Given the description of an element on the screen output the (x, y) to click on. 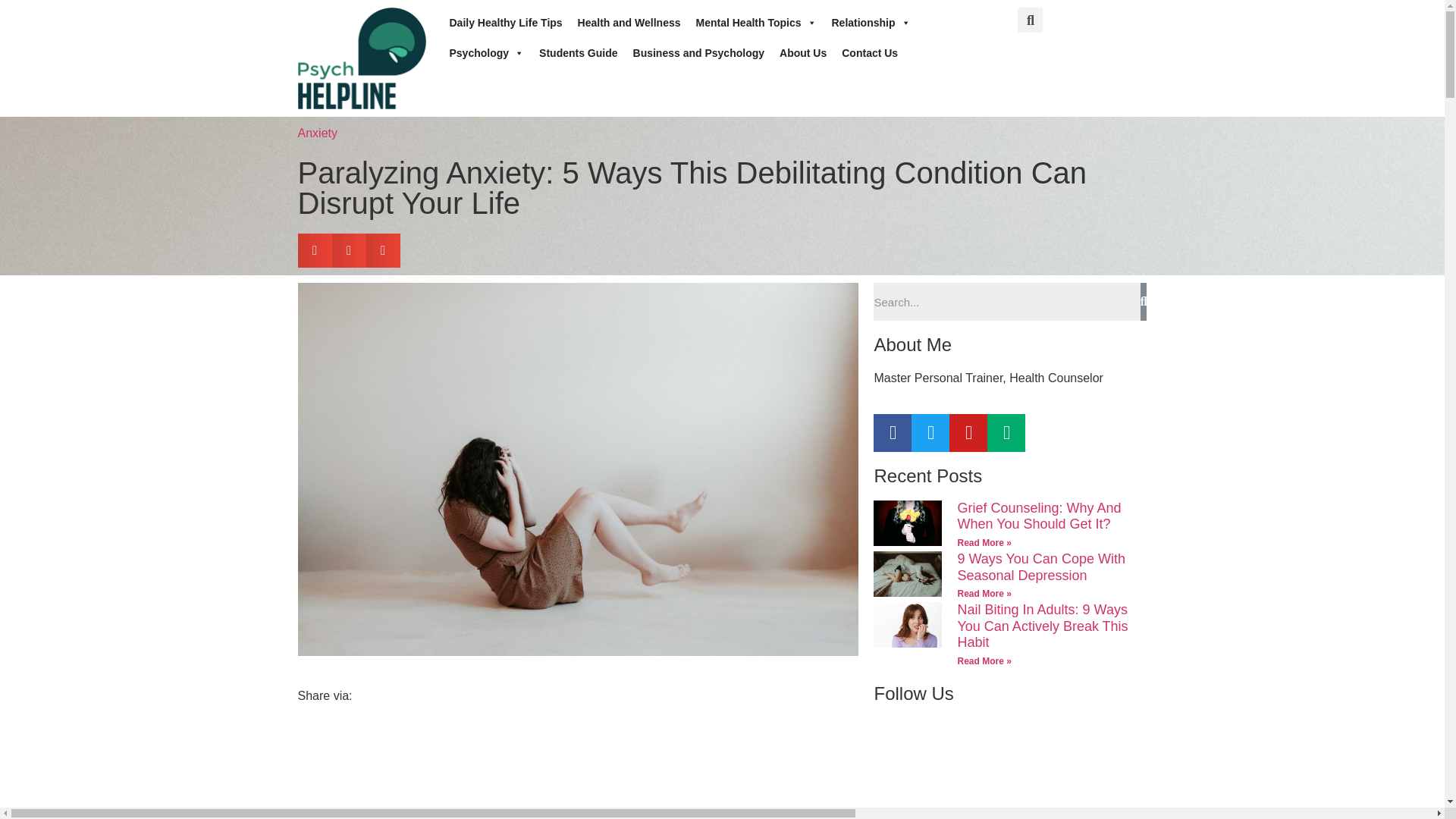
Anxiety (316, 132)
Psychology (486, 52)
Daily Healthy Life Tips (505, 22)
Relationship (870, 22)
Search (1006, 301)
Students Guide (577, 52)
Business and Psychology (699, 52)
About Us (802, 52)
Advertisement (578, 768)
Health and Wellness (629, 22)
